Given the description of an element on the screen output the (x, y) to click on. 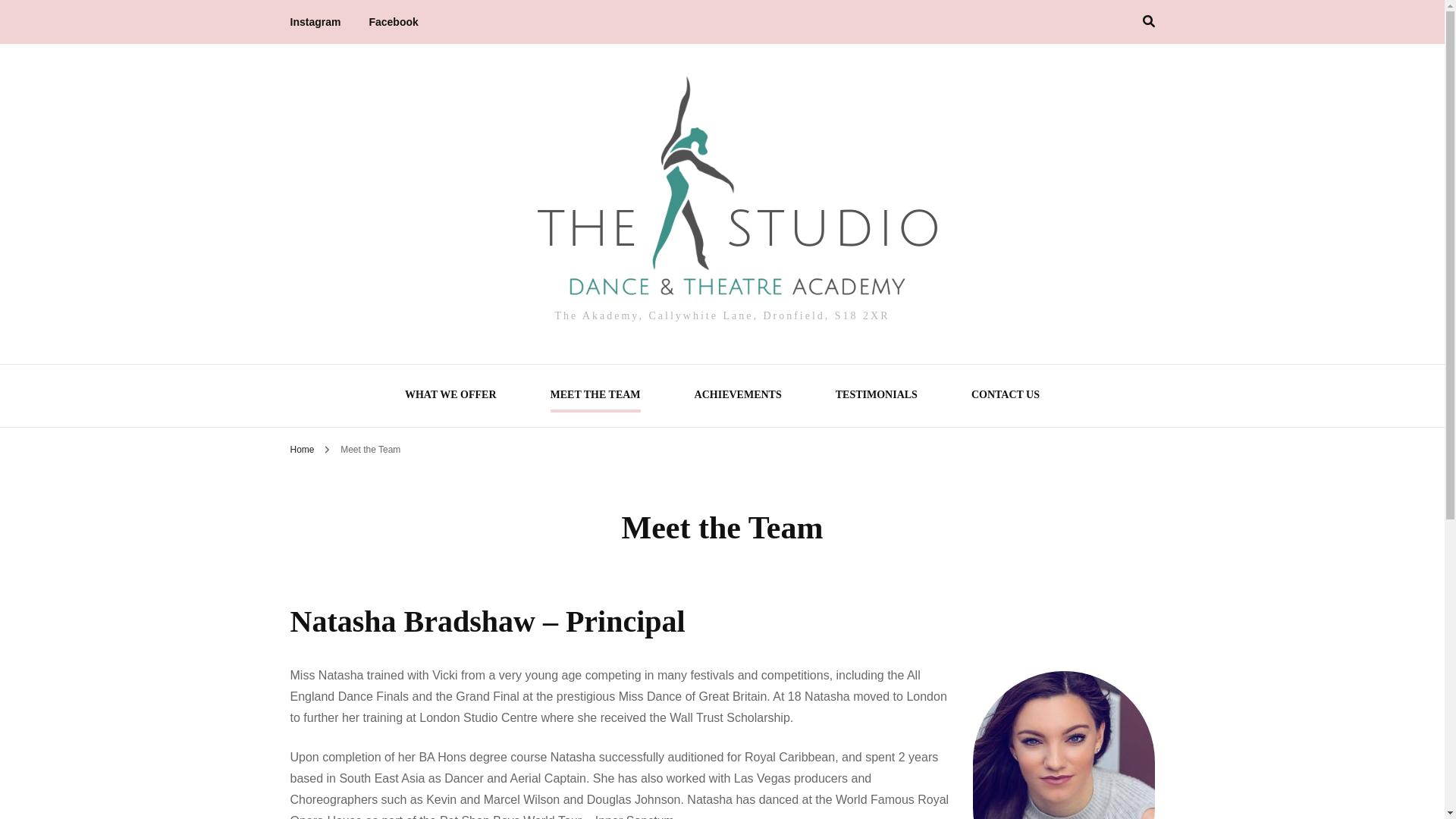
ACHIEVEMENTS (737, 396)
Meet the Team (370, 449)
Home (301, 449)
TESTIMONIALS (876, 396)
MEET THE TEAM (595, 396)
WHAT WE OFFER (450, 396)
Facebook (392, 21)
CONTACT US (1005, 396)
Instagram (314, 21)
